Given the description of an element on the screen output the (x, y) to click on. 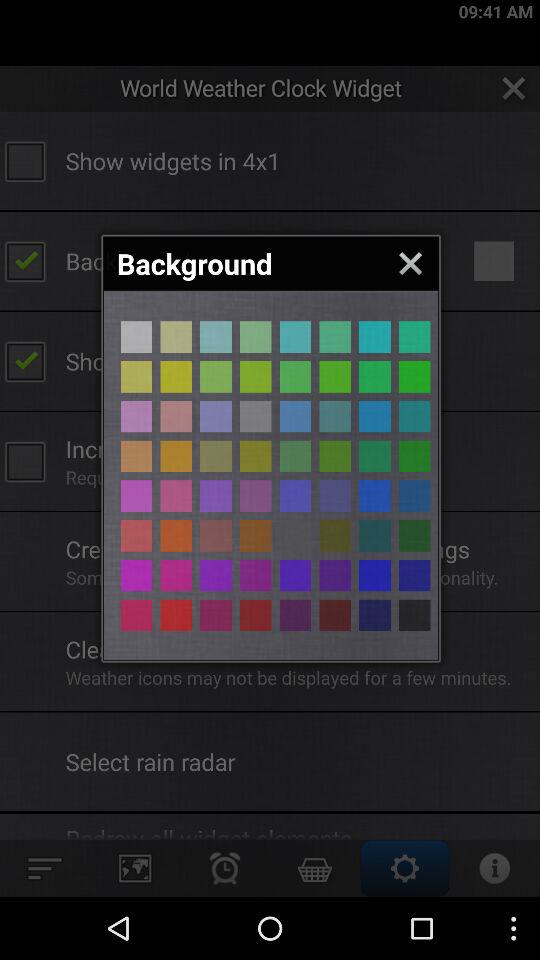
backround button (414, 456)
